Given the description of an element on the screen output the (x, y) to click on. 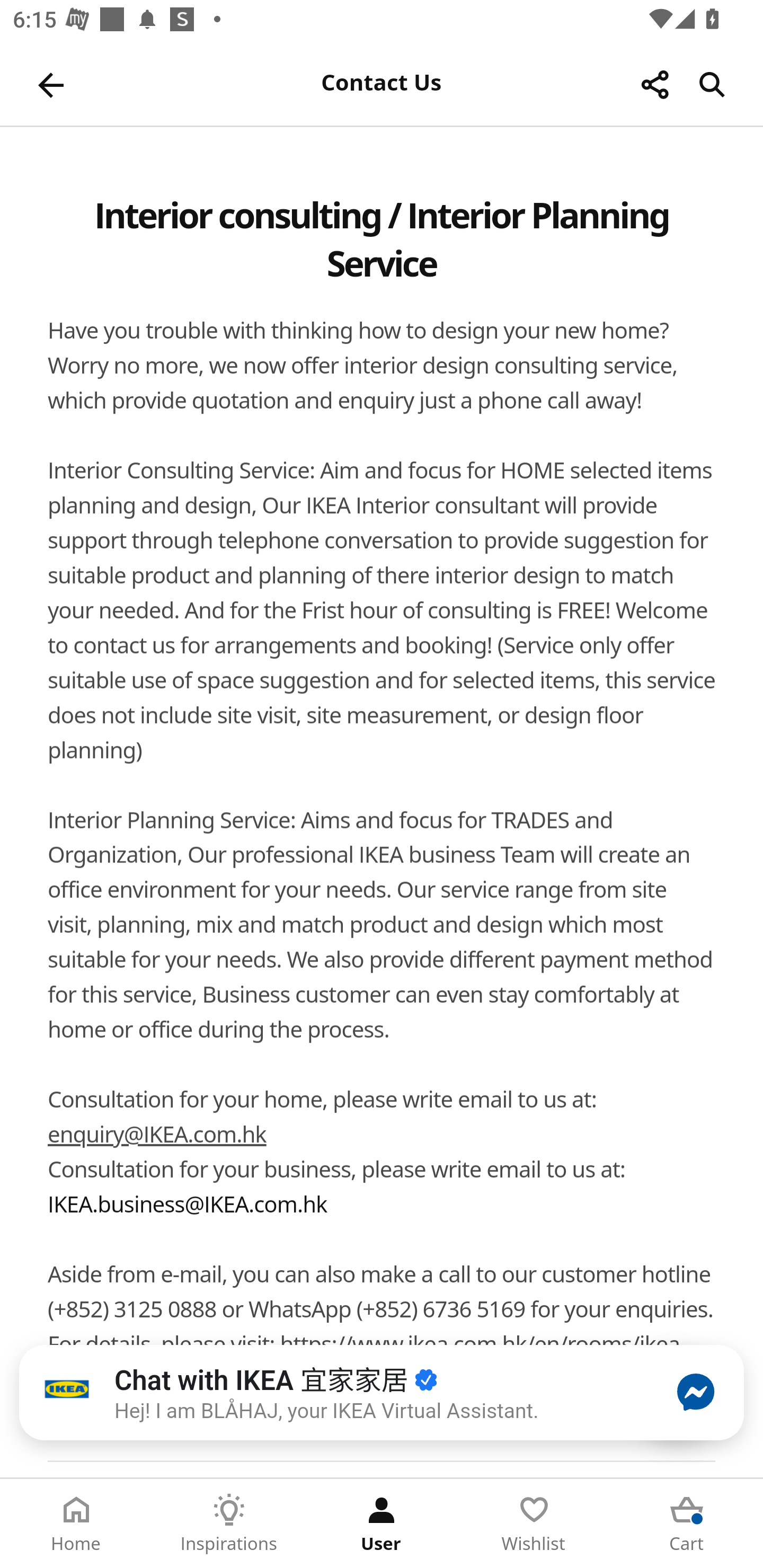
enquiry@IKEA.com.hk (157, 1136)
IKEA.business@IKEA.com.hk (187, 1205)
https://www.ikea.com.hk/en/rooms/ikea-for-business (366, 1362)
Home
Tab 1 of 5 (76, 1522)
Inspirations
Tab 2 of 5 (228, 1522)
User
Tab 3 of 5 (381, 1522)
Wishlist
Tab 4 of 5 (533, 1522)
Cart
Tab 5 of 5 (686, 1522)
